Given the description of an element on the screen output the (x, y) to click on. 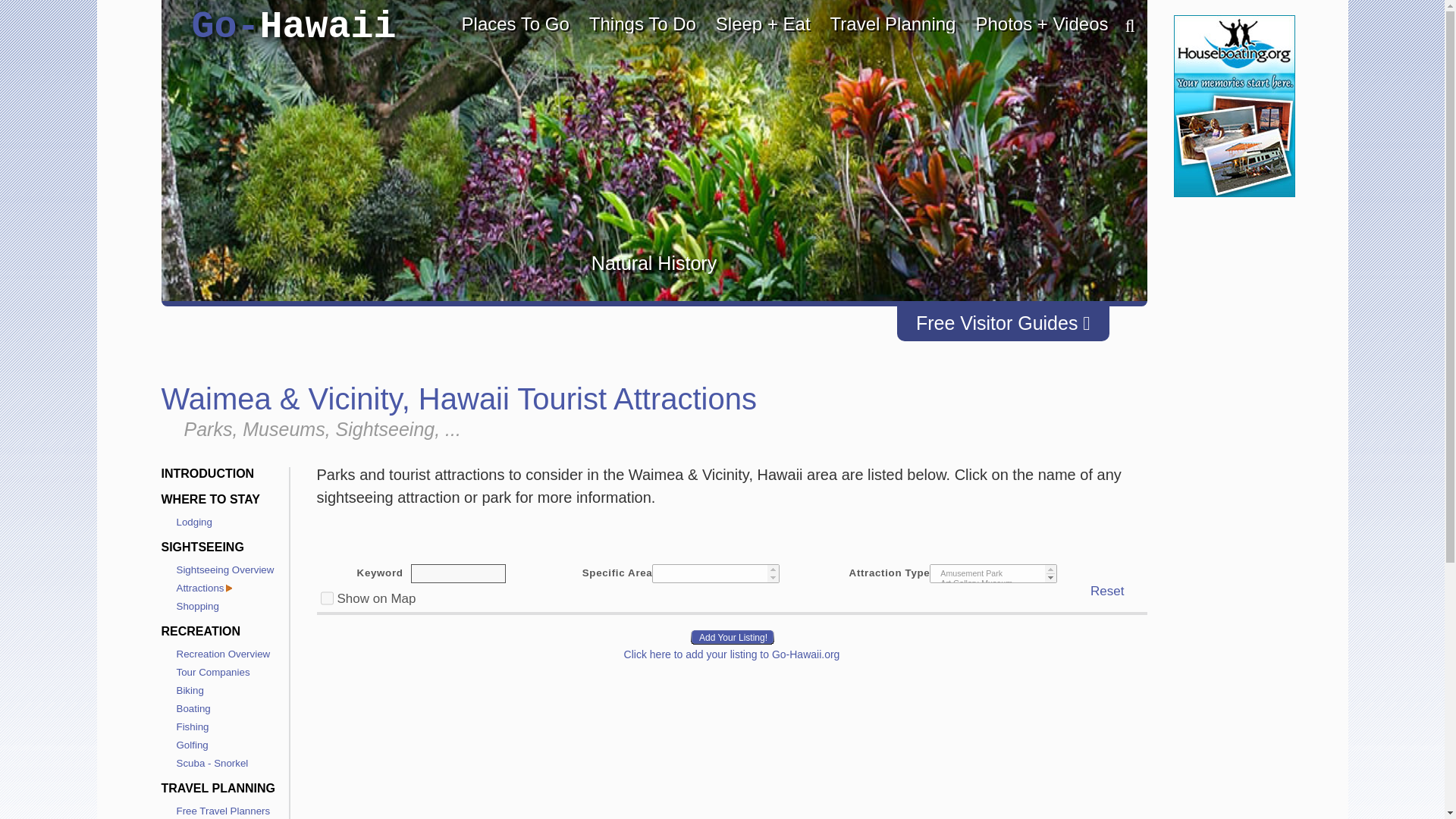
Places To Go (515, 24)
Go-Hawaii (293, 27)
Search Here (1122, 26)
go-hawaii.org (293, 27)
Things To Do (643, 24)
Search Here (1122, 26)
